Given the description of an element on the screen output the (x, y) to click on. 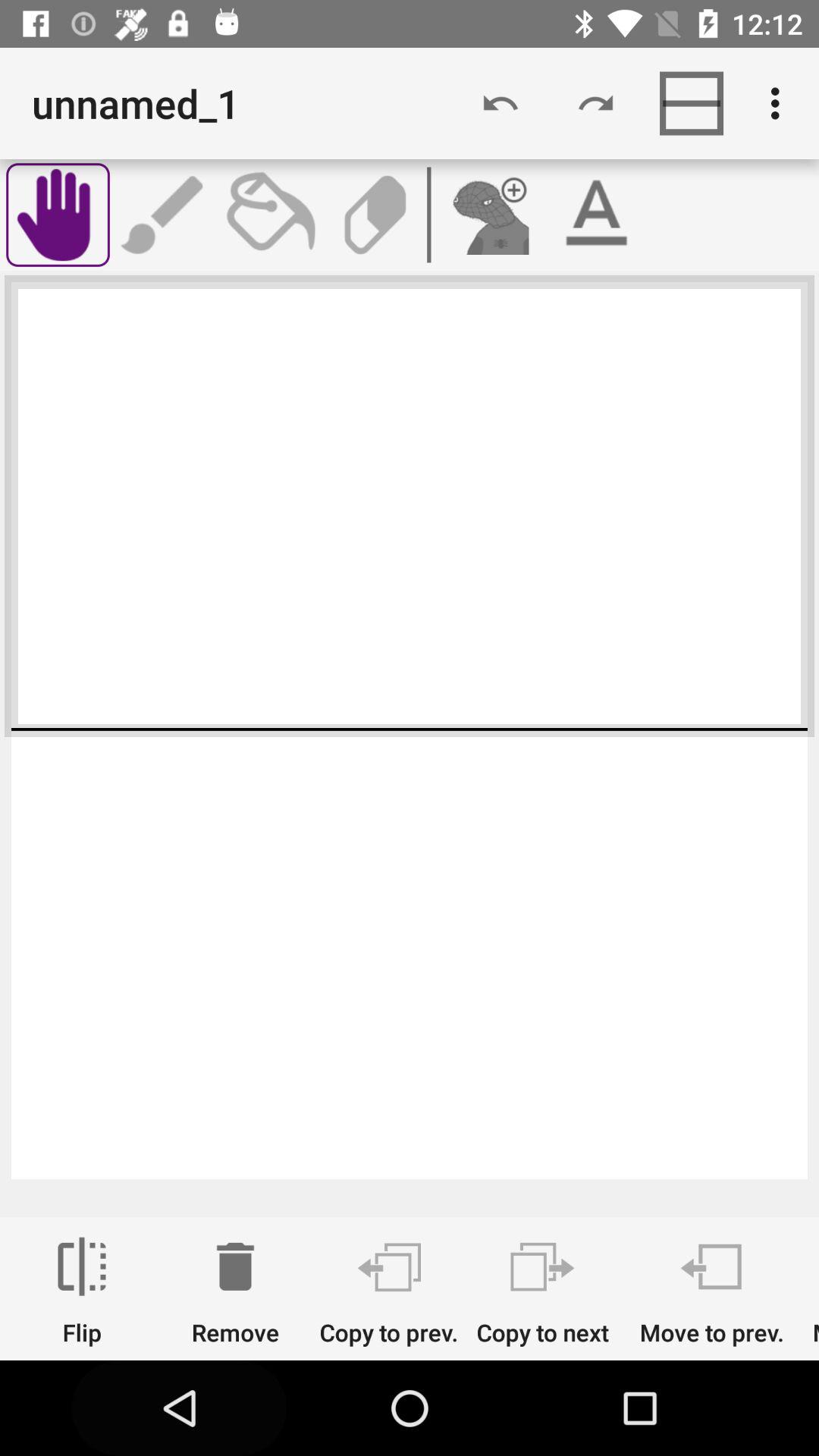
switch to text (596, 214)
